Given the description of an element on the screen output the (x, y) to click on. 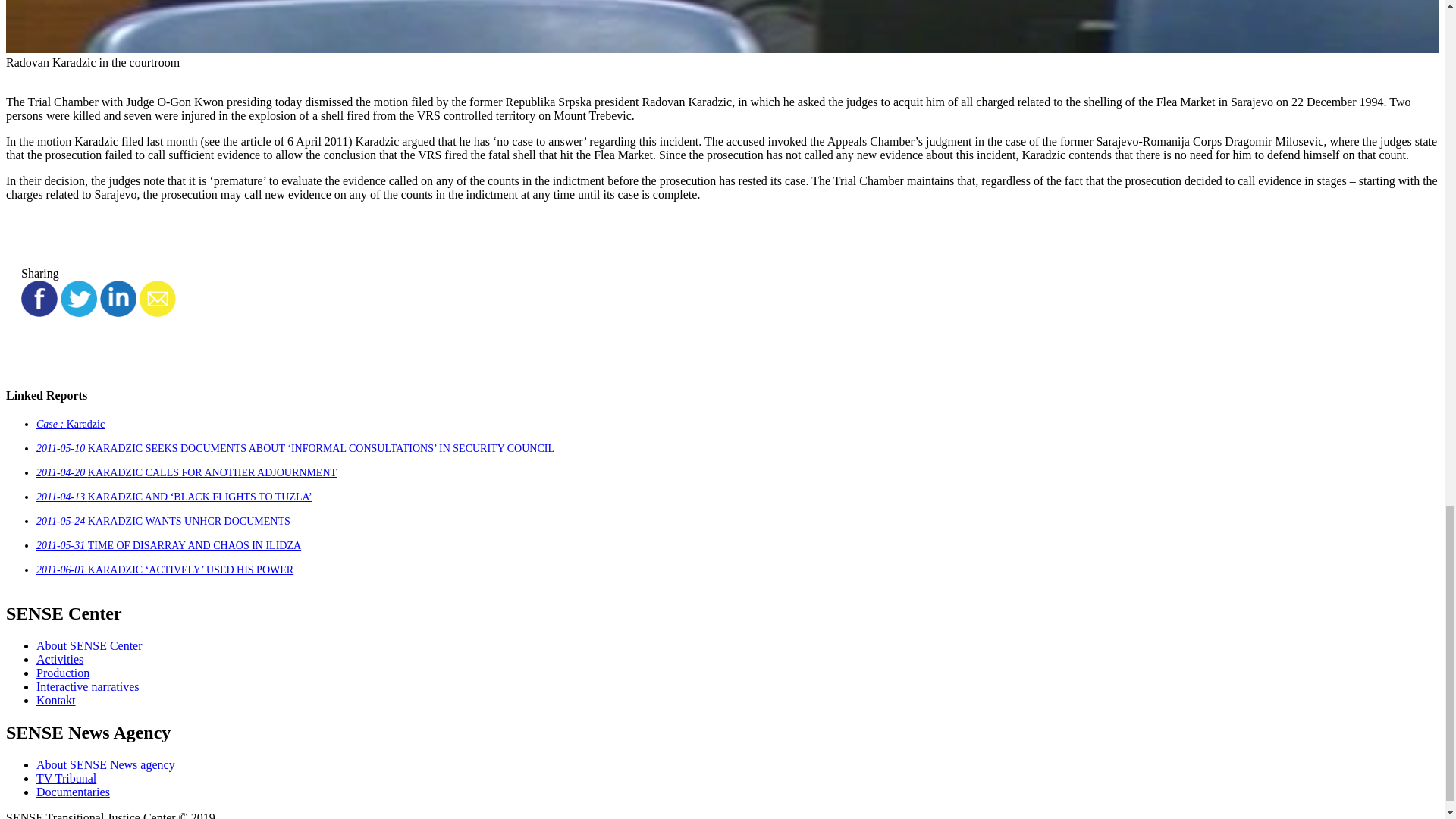
Documentaries (73, 791)
TV Tribunal (66, 778)
In Bosnian, Croatian or Serbian langauge (66, 778)
2011-04-20 KARADZIC CALLS FOR ANOTHER ADJOURNMENT (186, 472)
Production (62, 672)
Kontakt (55, 699)
About SENSE Center (89, 645)
2011-05-31 TIME OF DISARRAY AND CHAOS IN ILIDZA (168, 545)
Interactive narratives (87, 686)
Case : Karadzic (70, 423)
Activities (59, 658)
About SENSE News agency (105, 764)
2011-05-24 KARADZIC WANTS UNHCR DOCUMENTS (162, 521)
